Given the description of an element on the screen output the (x, y) to click on. 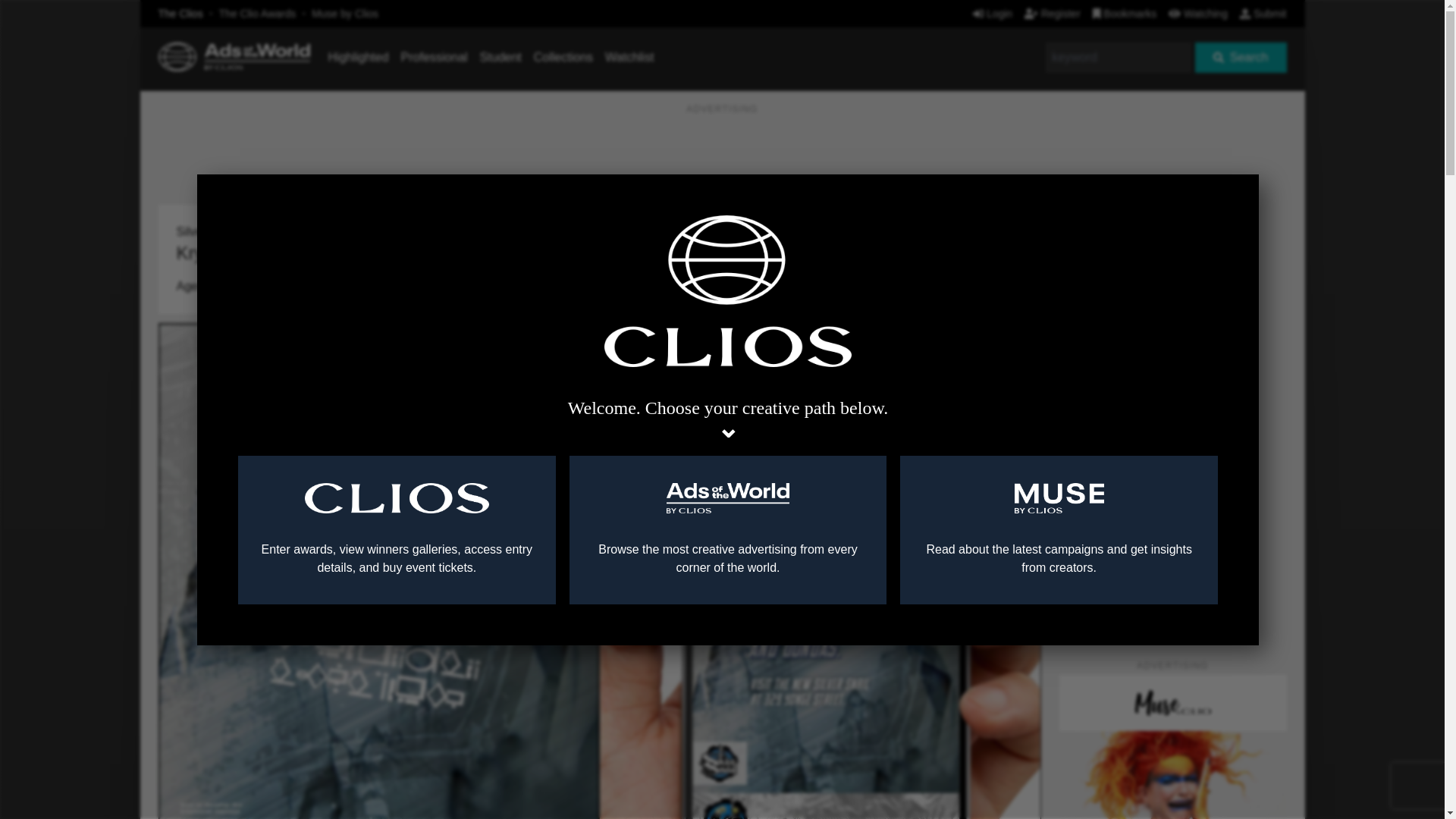
Submit (1263, 13)
Register (1052, 13)
Login to Bookmark (1018, 209)
Professional (434, 56)
Watchlist (629, 56)
Watching (1198, 13)
Bookmarks (1125, 13)
Bookmarks (1125, 13)
Muse by Clios (344, 13)
Login (991, 13)
The Clio Awards (258, 13)
Collections (563, 56)
Search (1241, 57)
Highlighted (357, 56)
Student (500, 56)
